Given the description of an element on the screen output the (x, y) to click on. 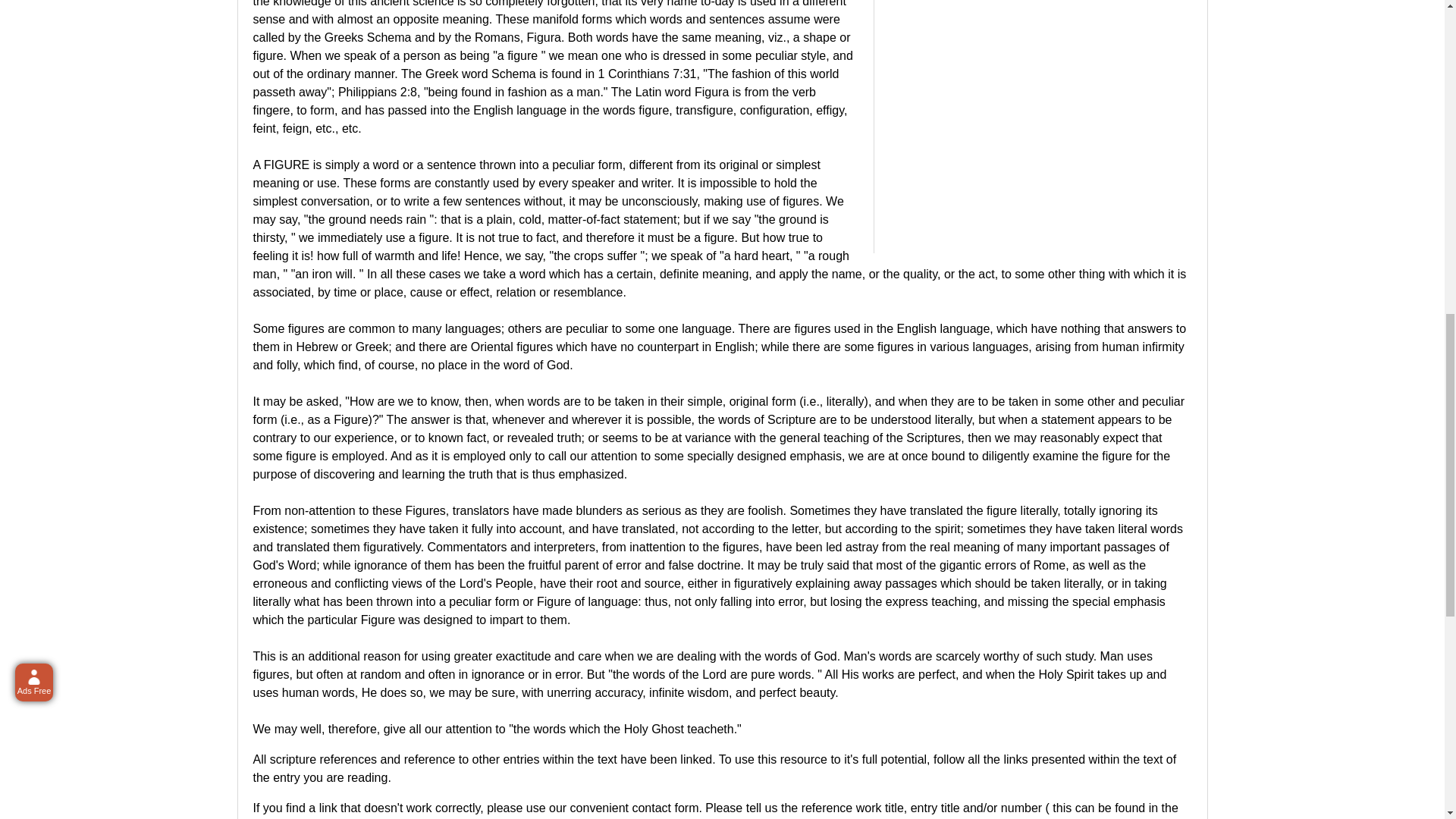
contact form (664, 807)
Philippians 2:8 (376, 91)
1 Corinthians 7:31 (647, 73)
